Given the description of an element on the screen output the (x, y) to click on. 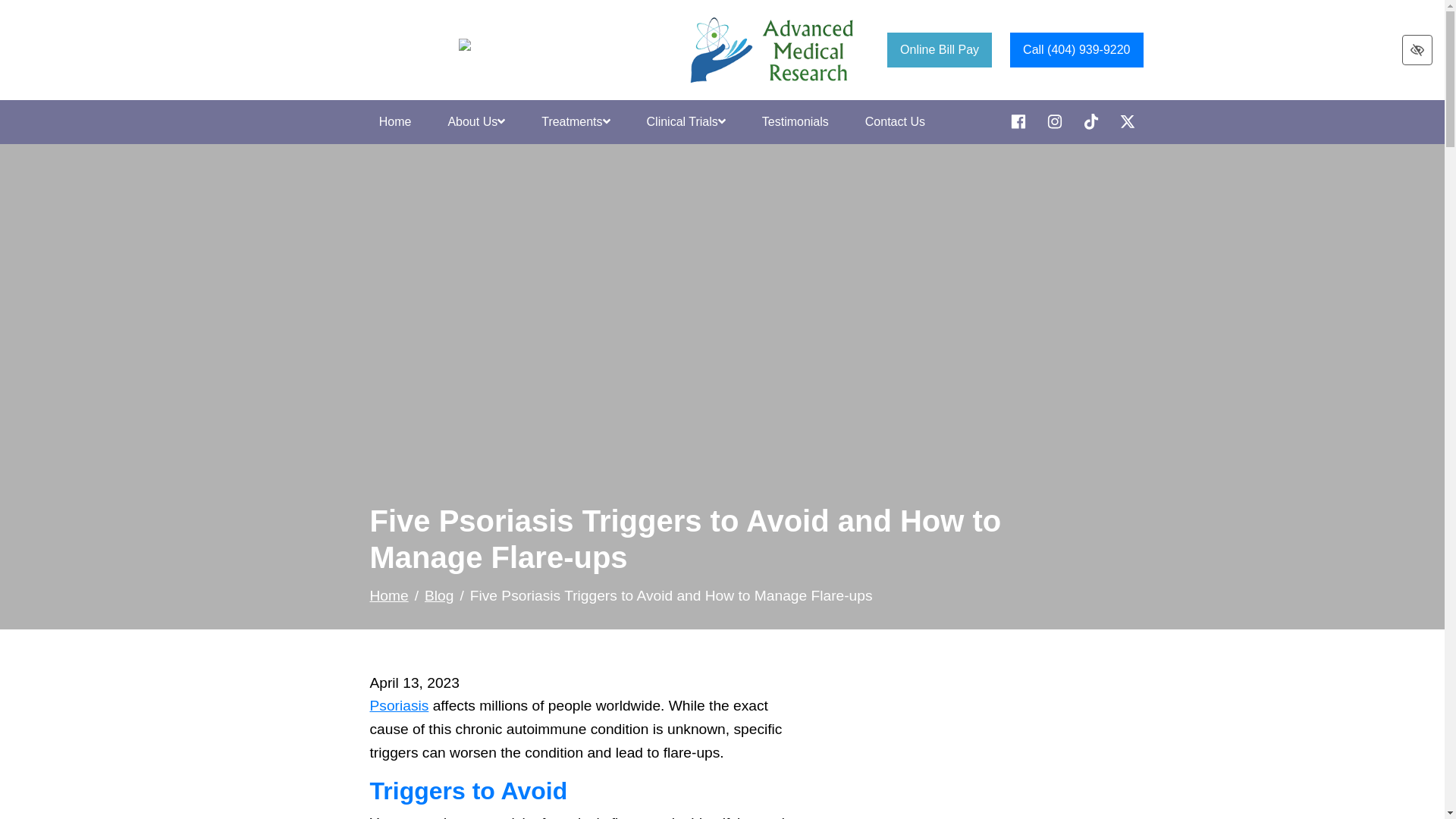
Online Bill Pay (938, 49)
Treatments (574, 122)
Skip to main content (12, 9)
Switch to high color contrast version of the website (1417, 50)
Home (395, 122)
About Us (475, 122)
